Given the description of an element on the screen output the (x, y) to click on. 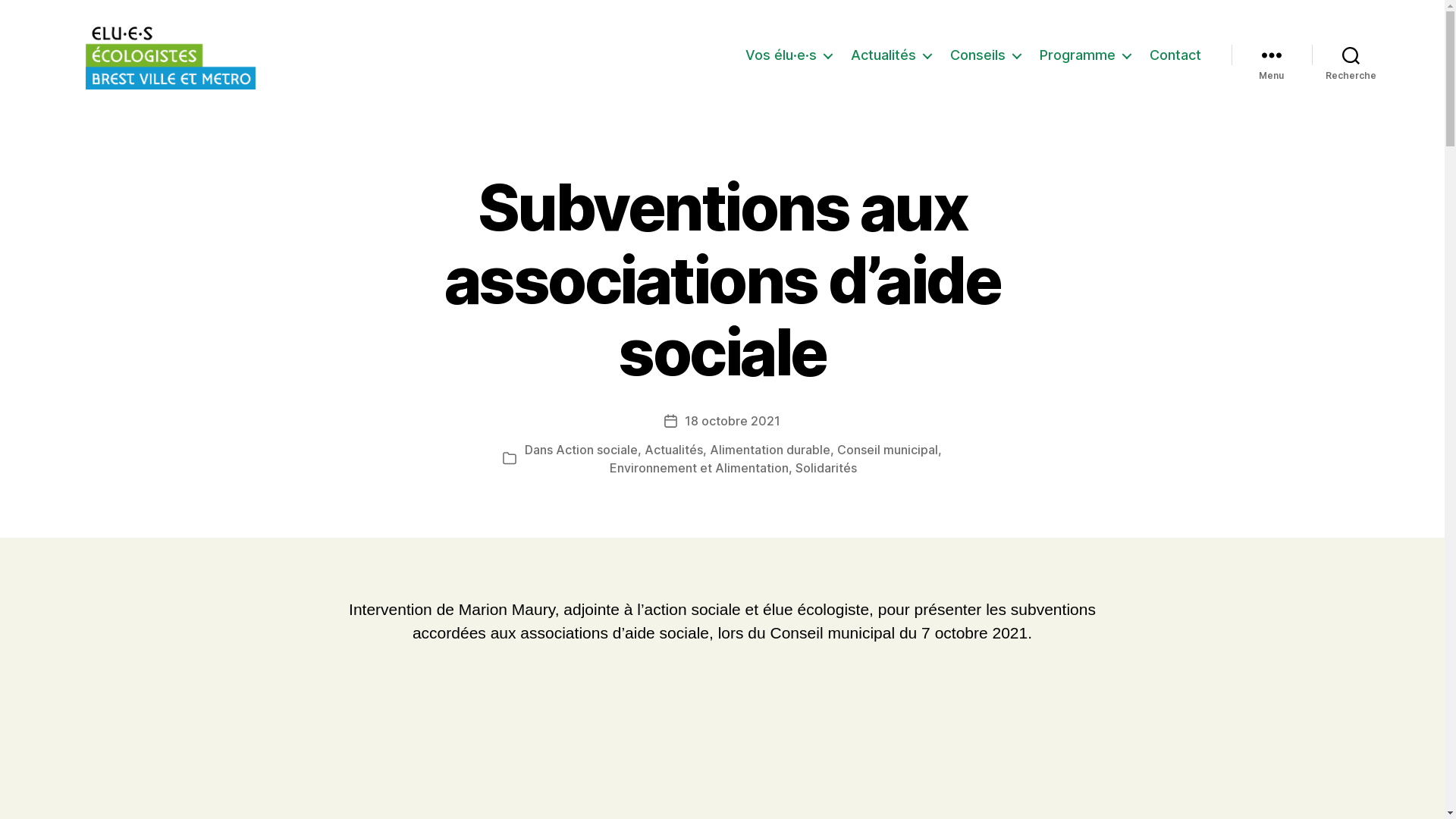
Action sociale Element type: text (596, 449)
Conseils Element type: text (984, 55)
Alimentation durable Element type: text (769, 449)
Programme Element type: text (1083, 55)
18 octobre 2021 Element type: text (732, 420)
Recherche Element type: text (1350, 55)
Conseil municipal Element type: text (887, 449)
Environnement et Alimentation Element type: text (698, 467)
Contact Element type: text (1175, 55)
Menu Element type: text (1271, 55)
